Given the description of an element on the screen output the (x, y) to click on. 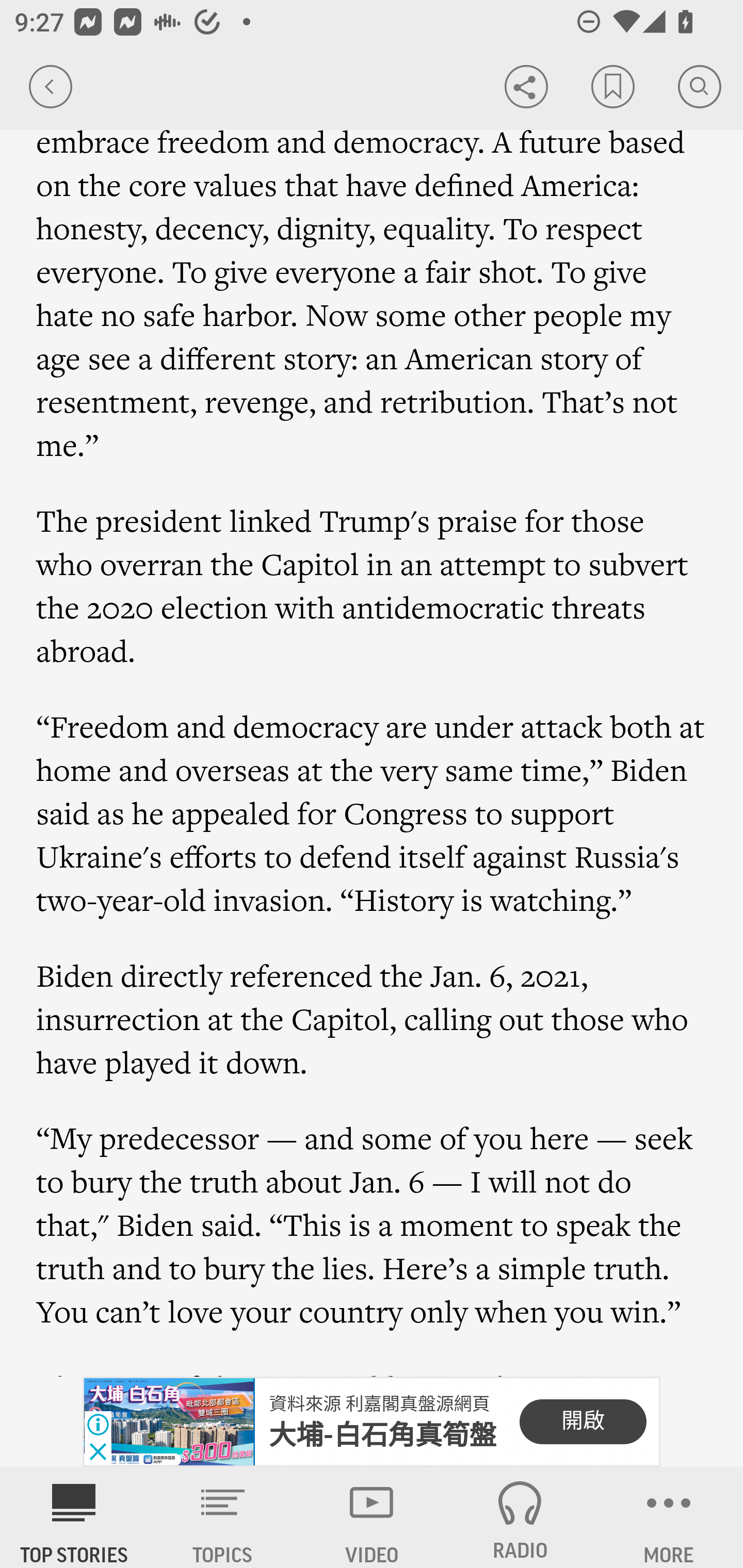
B30001746 (168, 1421)
資料來源 利嘉閣真盤源網頁 (379, 1403)
開啟 (582, 1421)
大埔-白石角真筍盤 (382, 1434)
AP News TOP STORIES (74, 1517)
TOPICS (222, 1517)
VIDEO (371, 1517)
RADIO (519, 1517)
MORE (668, 1517)
